Given the description of an element on the screen output the (x, y) to click on. 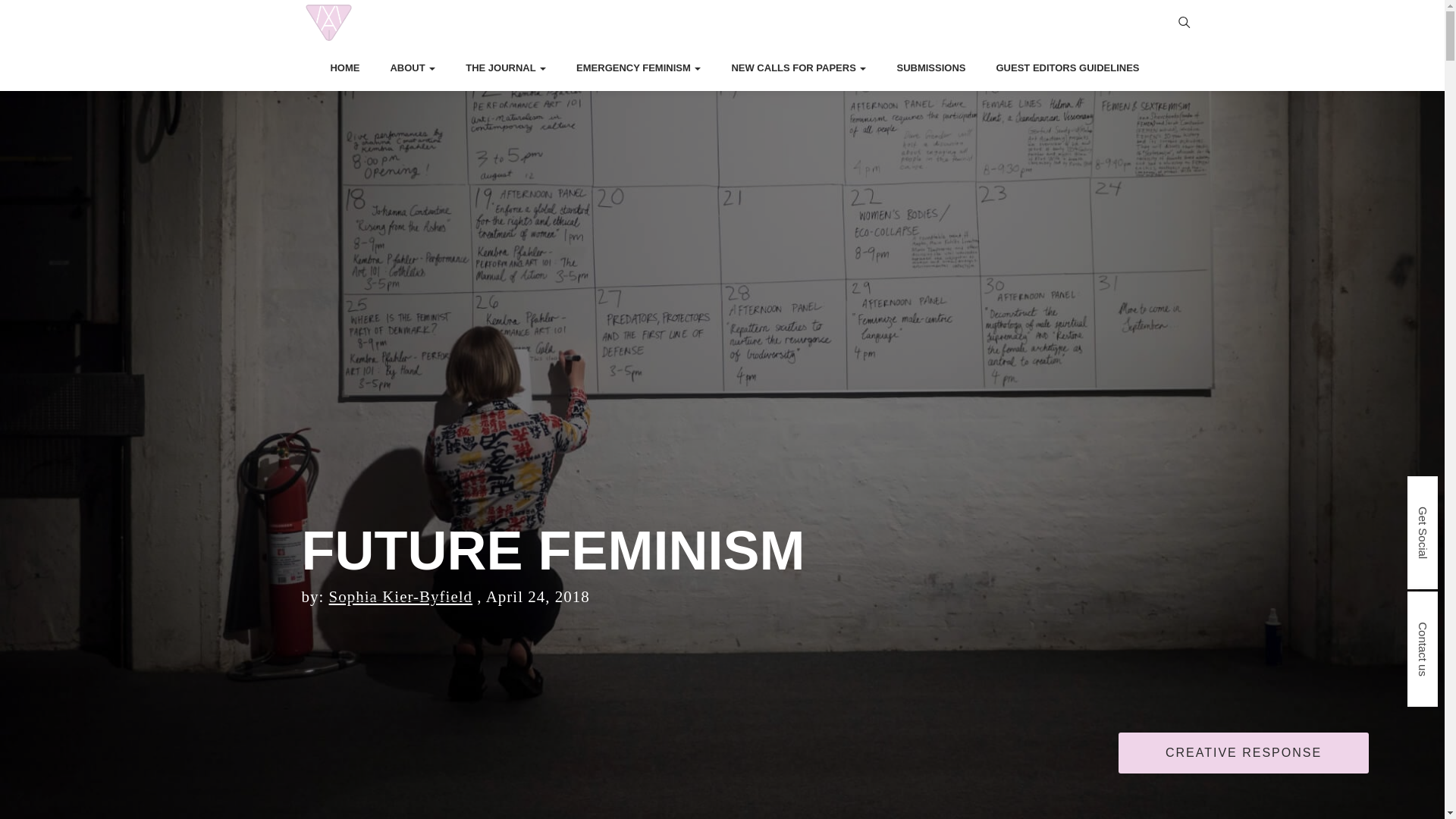
THE JOURNAL (505, 67)
SUBMISSIONS (930, 67)
EMERGENCY FEMINISM (638, 67)
About (412, 67)
ABOUT (412, 67)
NEW CALLS FOR PAPERS (798, 67)
The Journal (505, 67)
GUEST EDITORS GUIDELINES (1066, 67)
